Given the description of an element on the screen output the (x, y) to click on. 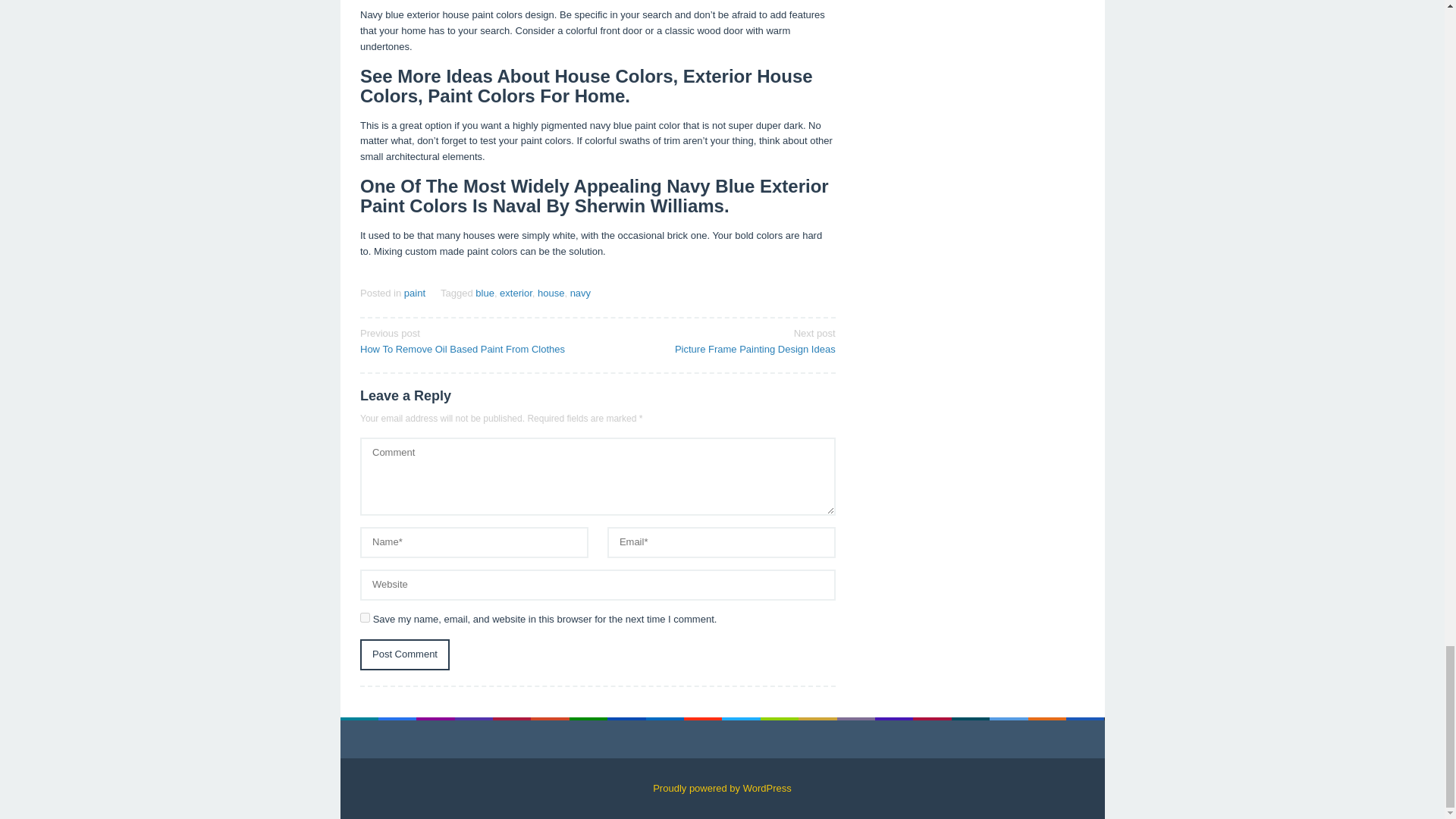
paint (414, 292)
exterior (515, 292)
navy (473, 339)
Post Comment (580, 292)
house (404, 654)
Post Comment (550, 292)
blue (721, 339)
yes (404, 654)
